Given the description of an element on the screen output the (x, y) to click on. 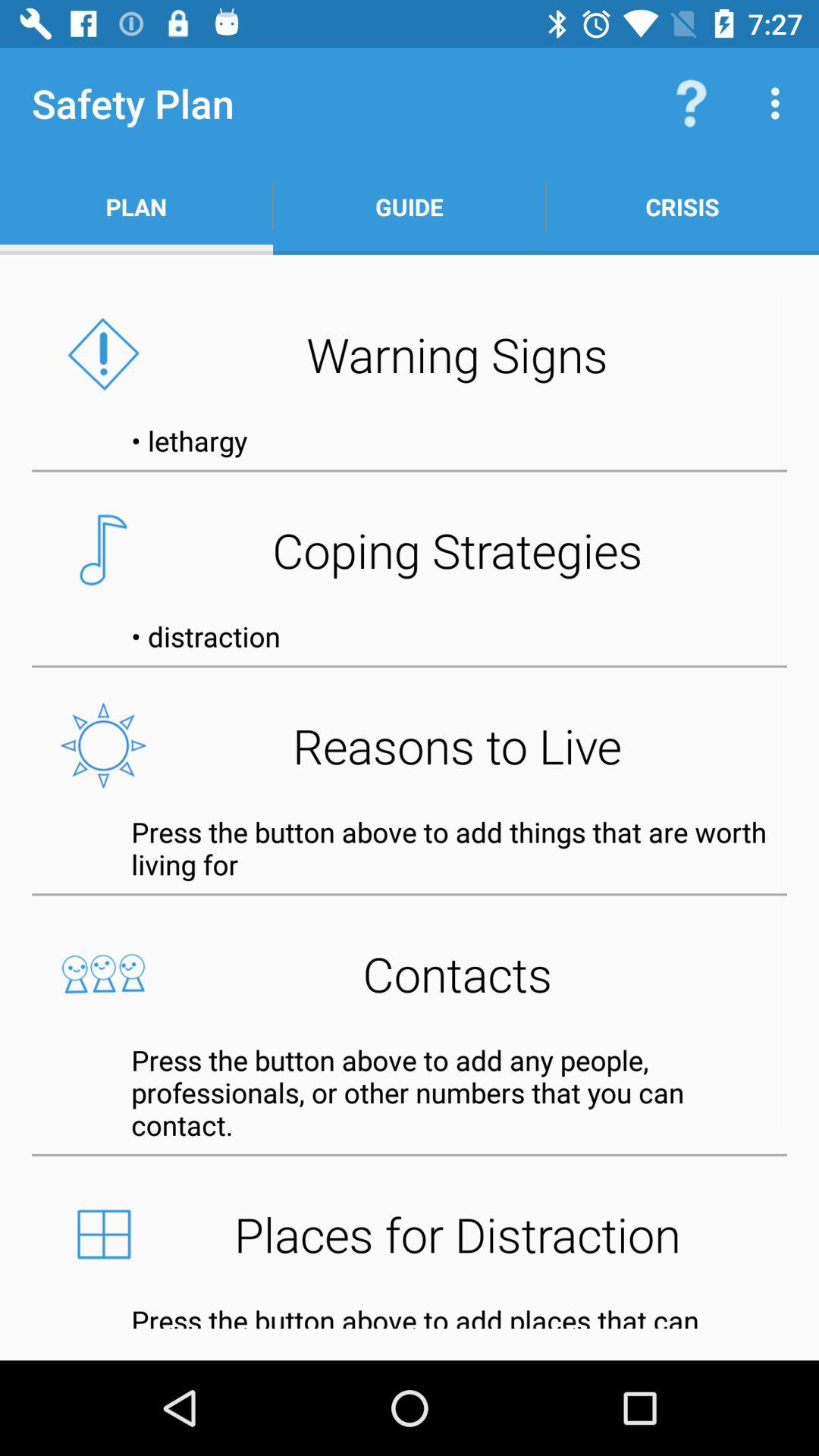
click the icon above the warning signs icon (409, 206)
